Given the description of an element on the screen output the (x, y) to click on. 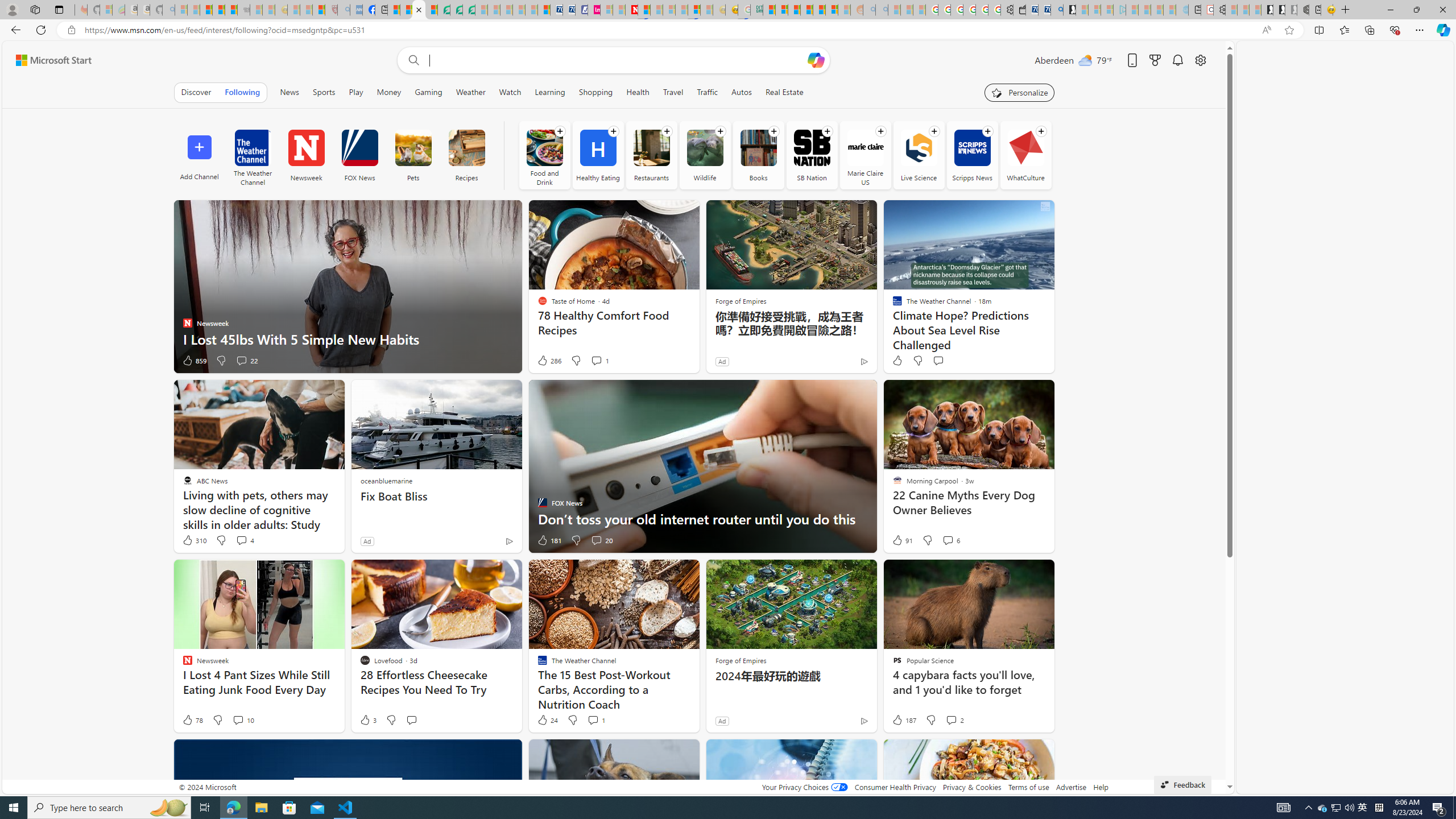
View comments 20 Comment (601, 539)
Food and Drink (544, 155)
WhatCulture (1025, 147)
Terms of Use Agreement (456, 9)
Forge of Empires (740, 660)
